Given the description of an element on the screen output the (x, y) to click on. 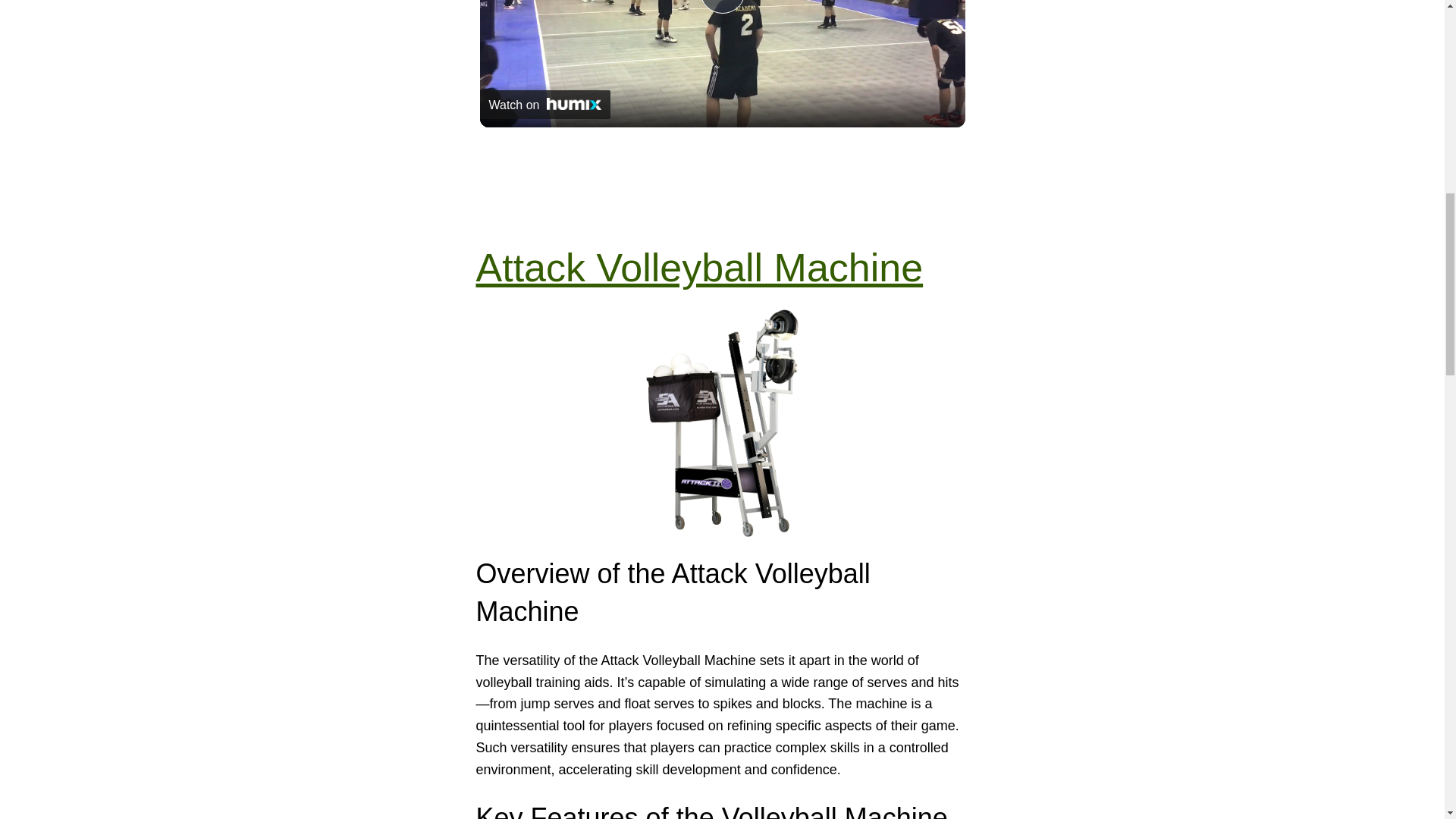
Watch on (544, 104)
Attack Volleyball Machine (699, 267)
Play Video (721, 6)
Play Video (721, 6)
